Given the description of an element on the screen output the (x, y) to click on. 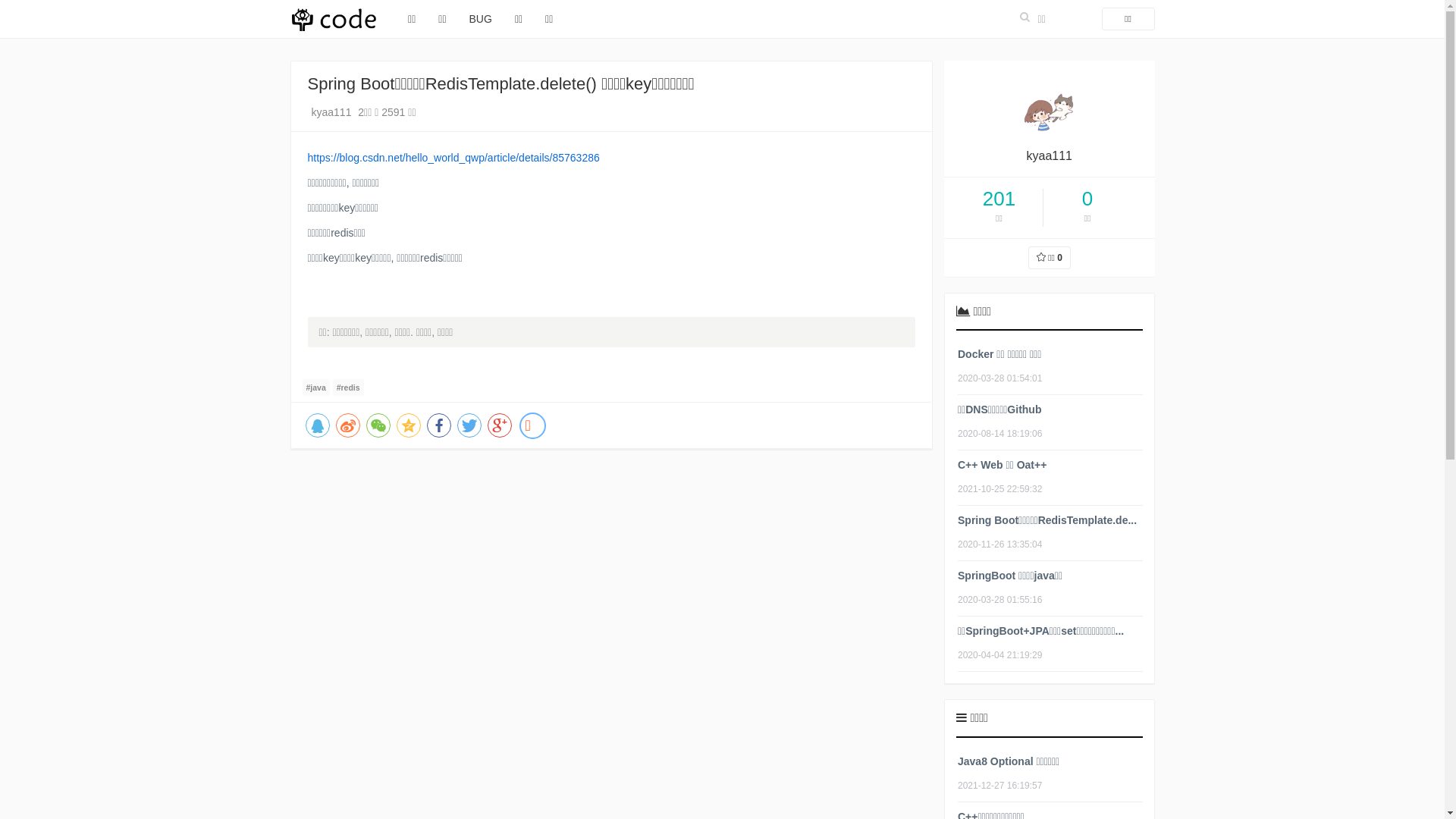
#java Element type: text (315, 387)
kyaa111 Element type: text (332, 112)
#redis Element type: text (348, 387)
BUG Element type: text (480, 18)
